Given the description of an element on the screen output the (x, y) to click on. 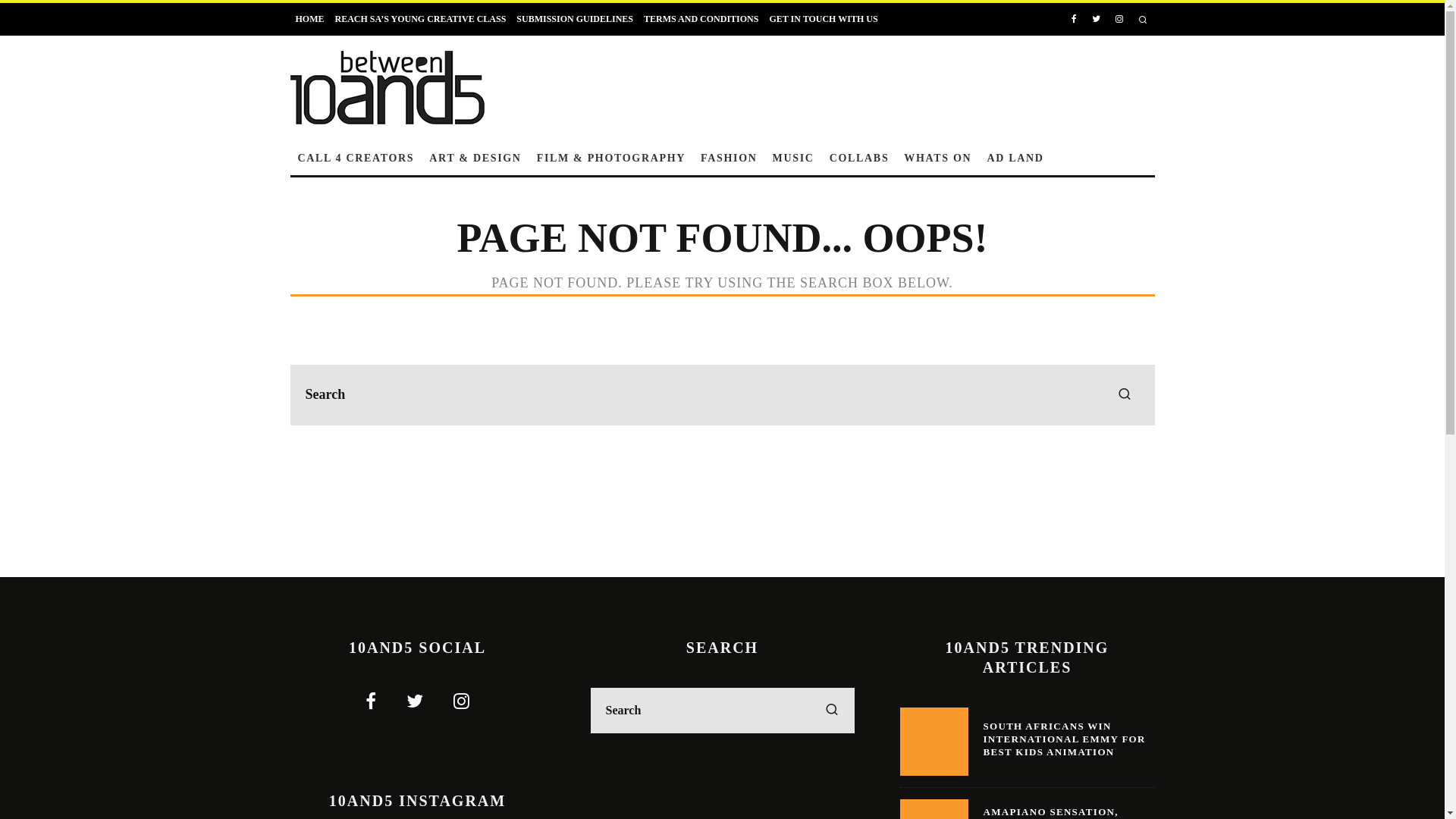
TERMS AND CONDITIONS Element type: text (700, 18)
COLLABS Element type: text (859, 158)
MUSIC Element type: text (793, 158)
WHATS ON Element type: text (937, 158)
CALL 4 CREATORS Element type: text (355, 158)
AD LAND Element type: text (1015, 158)
FASHION Element type: text (729, 158)
HOME Element type: text (309, 18)
GET IN TOUCH WITH US Element type: text (822, 18)
SUBMISSION GUIDELINES Element type: text (574, 18)
ART & DESIGN Element type: text (474, 158)
FILM & PHOTOGRAPHY Element type: text (611, 158)
